Given the description of an element on the screen output the (x, y) to click on. 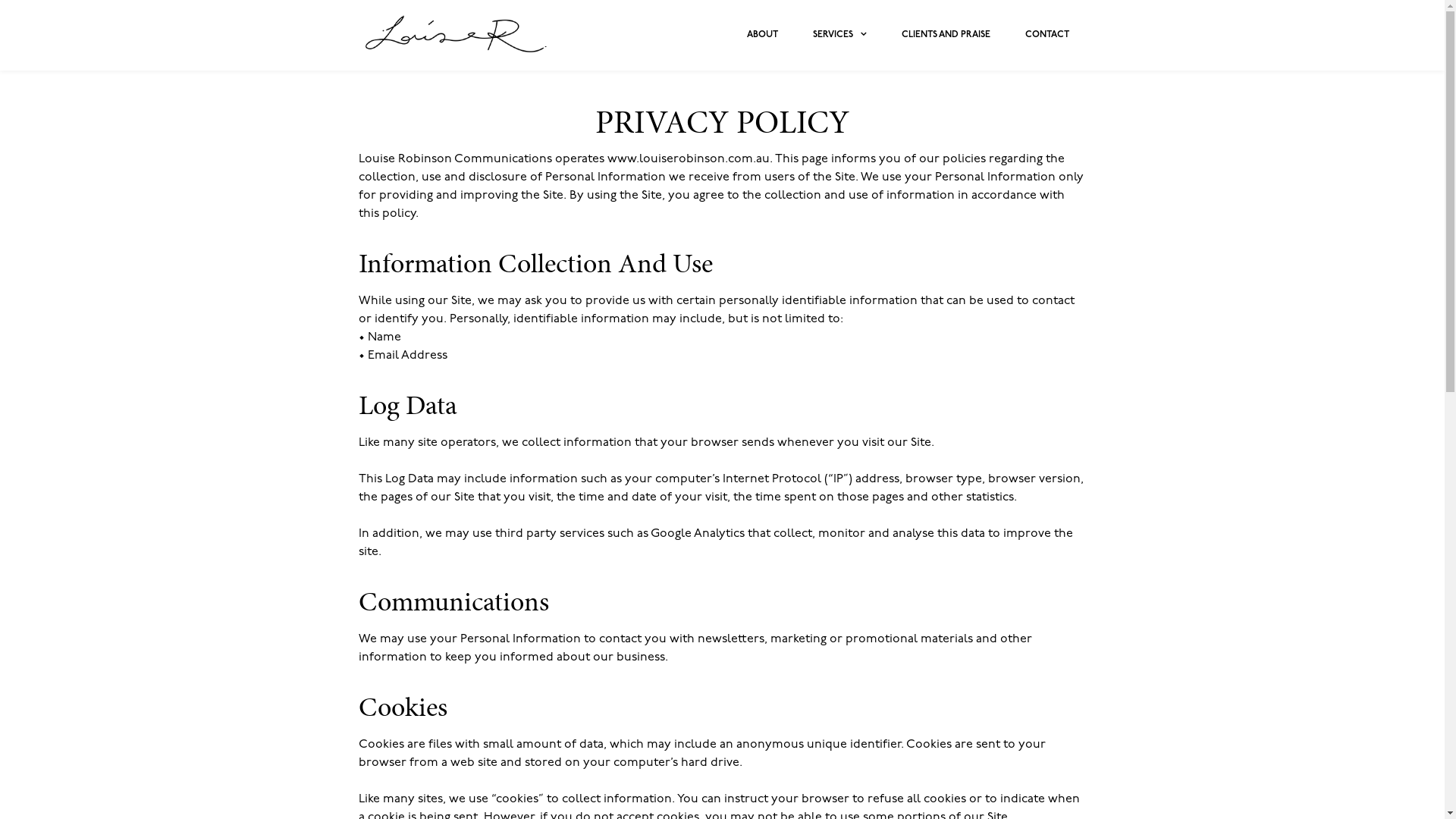
ABOUT Element type: text (762, 35)
CONTACT Element type: text (1046, 35)
CLIENTS AND PRAISE Element type: text (945, 35)
SERVICES Element type: text (838, 35)
Louise Robinson Communications Element type: hover (456, 34)
